Given the description of an element on the screen output the (x, y) to click on. 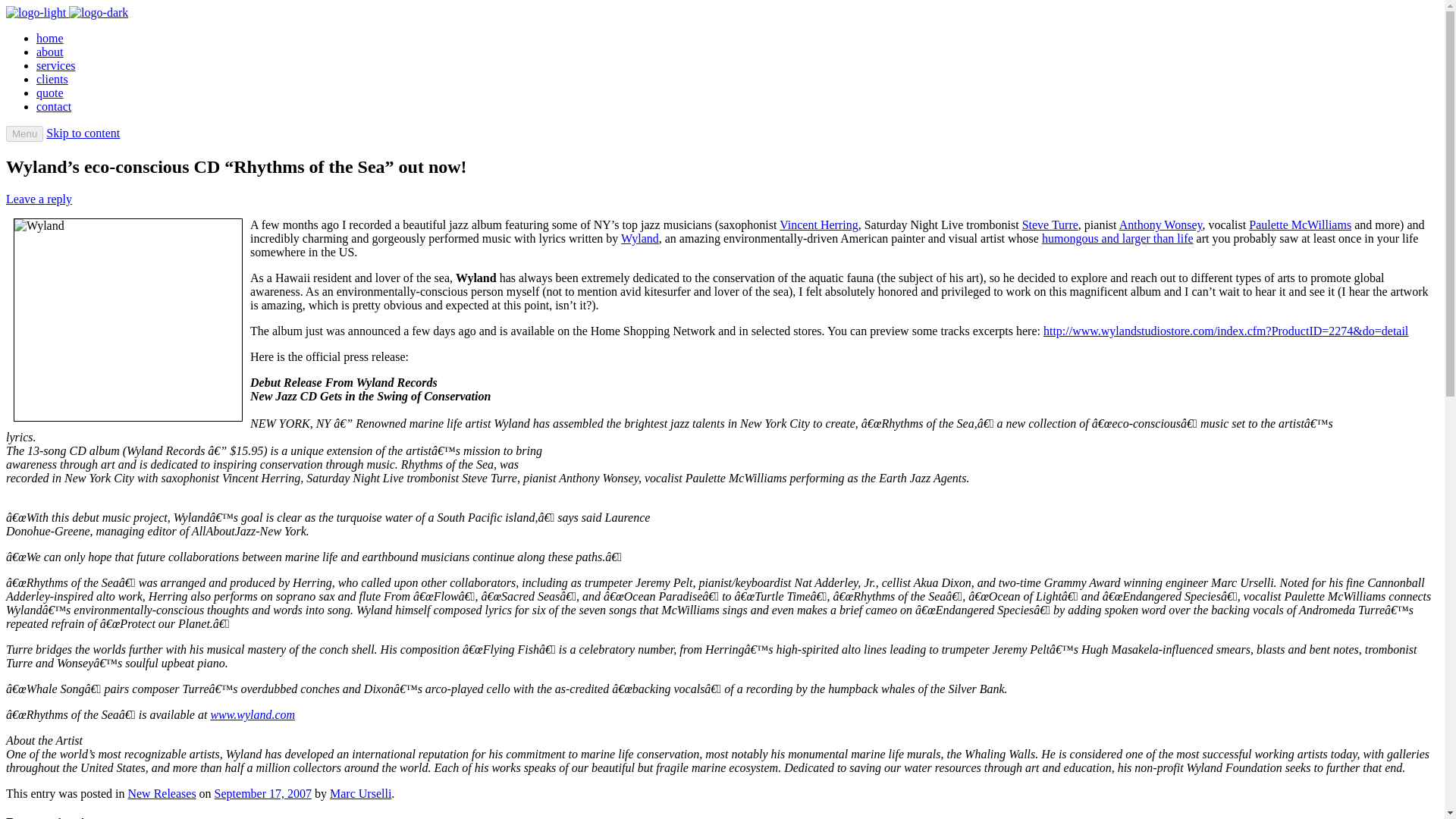
quote (50, 92)
Wyland (128, 319)
Vincent Herring (817, 224)
Steve Turre (1050, 224)
View all posts by Marc Urselli (360, 793)
New Releases (161, 793)
contact (53, 106)
humongous and larger than life (1117, 237)
Menu (24, 133)
Anthony Wonsey (1160, 224)
clients (52, 78)
Paulette McWilliams (1300, 224)
home (50, 38)
Skip to content (82, 132)
www.wyland.com (252, 714)
